Given the description of an element on the screen output the (x, y) to click on. 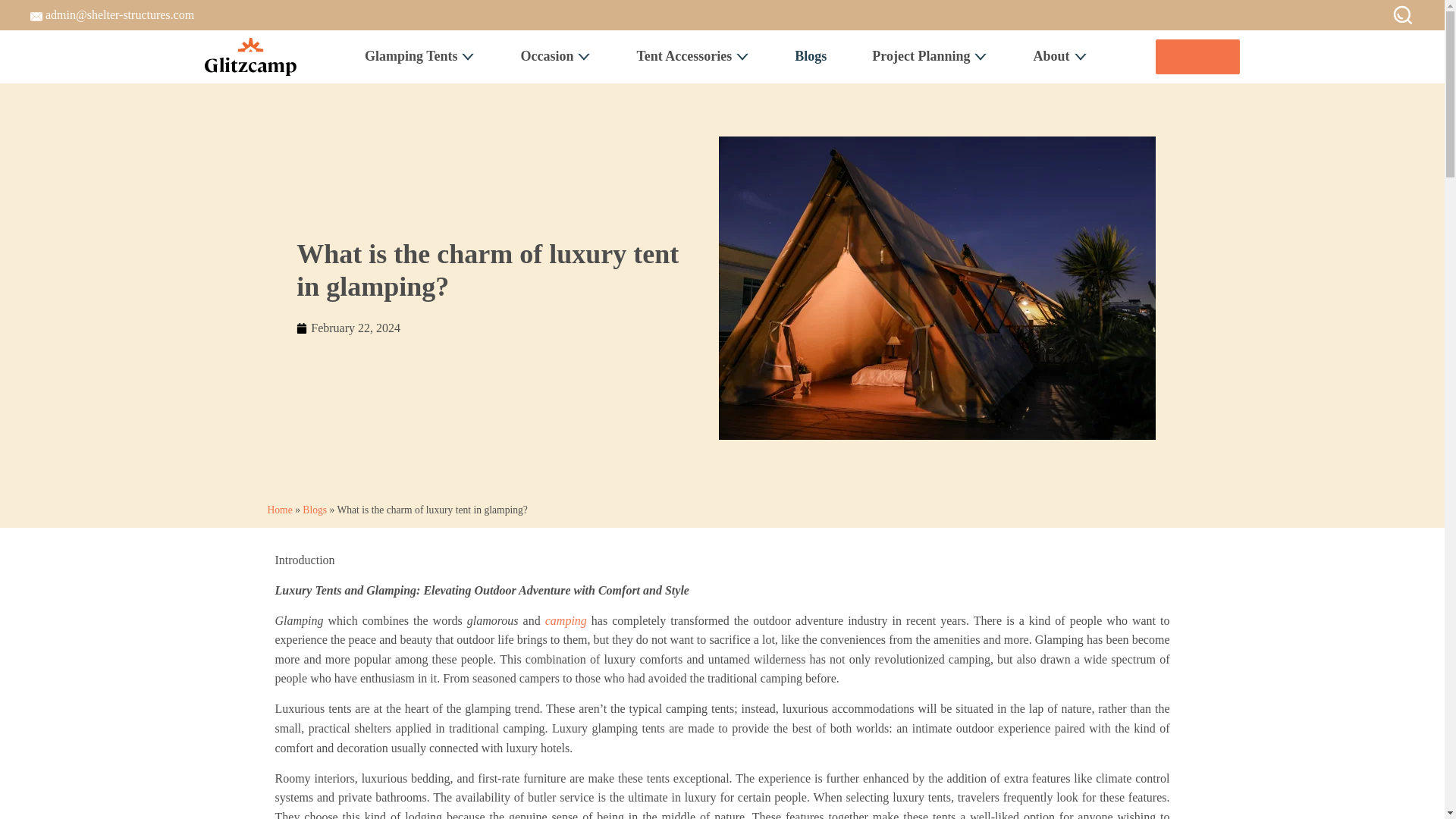
Blogs (809, 56)
Occasion (555, 56)
Tent Accessories (692, 56)
Glamping Tents (419, 56)
Project Planning (930, 56)
About (1059, 56)
